Given the description of an element on the screen output the (x, y) to click on. 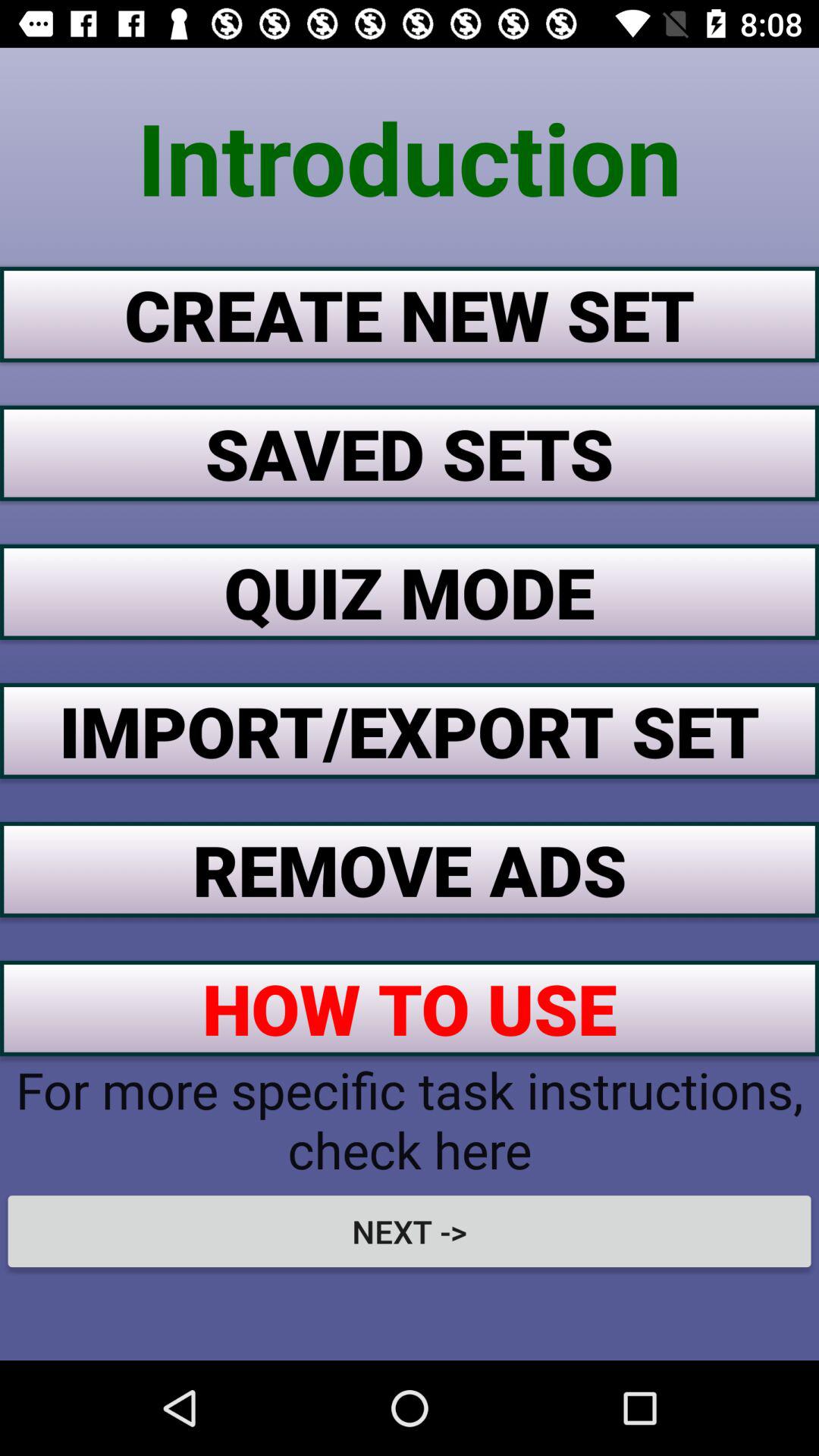
launch saved sets icon (409, 453)
